Given the description of an element on the screen output the (x, y) to click on. 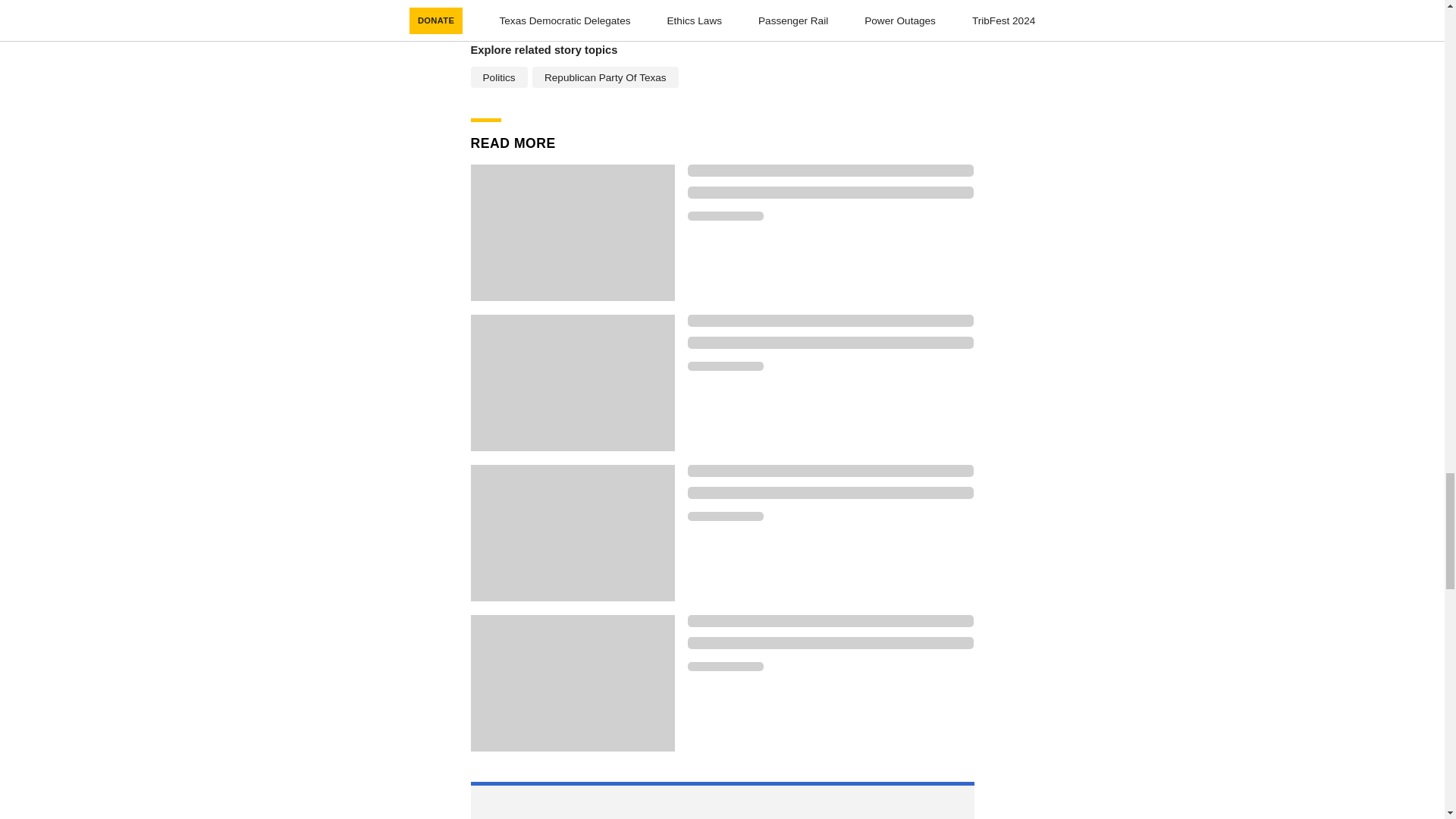
Loading indicator (724, 665)
Loading indicator (830, 320)
Loading indicator (724, 215)
Loading indicator (830, 192)
Loading indicator (830, 643)
Loading indicator (830, 492)
Loading indicator (830, 170)
Loading indicator (830, 470)
Loading indicator (724, 515)
Loading indicator (724, 366)
Loading indicator (830, 621)
Loading indicator (830, 342)
